Given the description of an element on the screen output the (x, y) to click on. 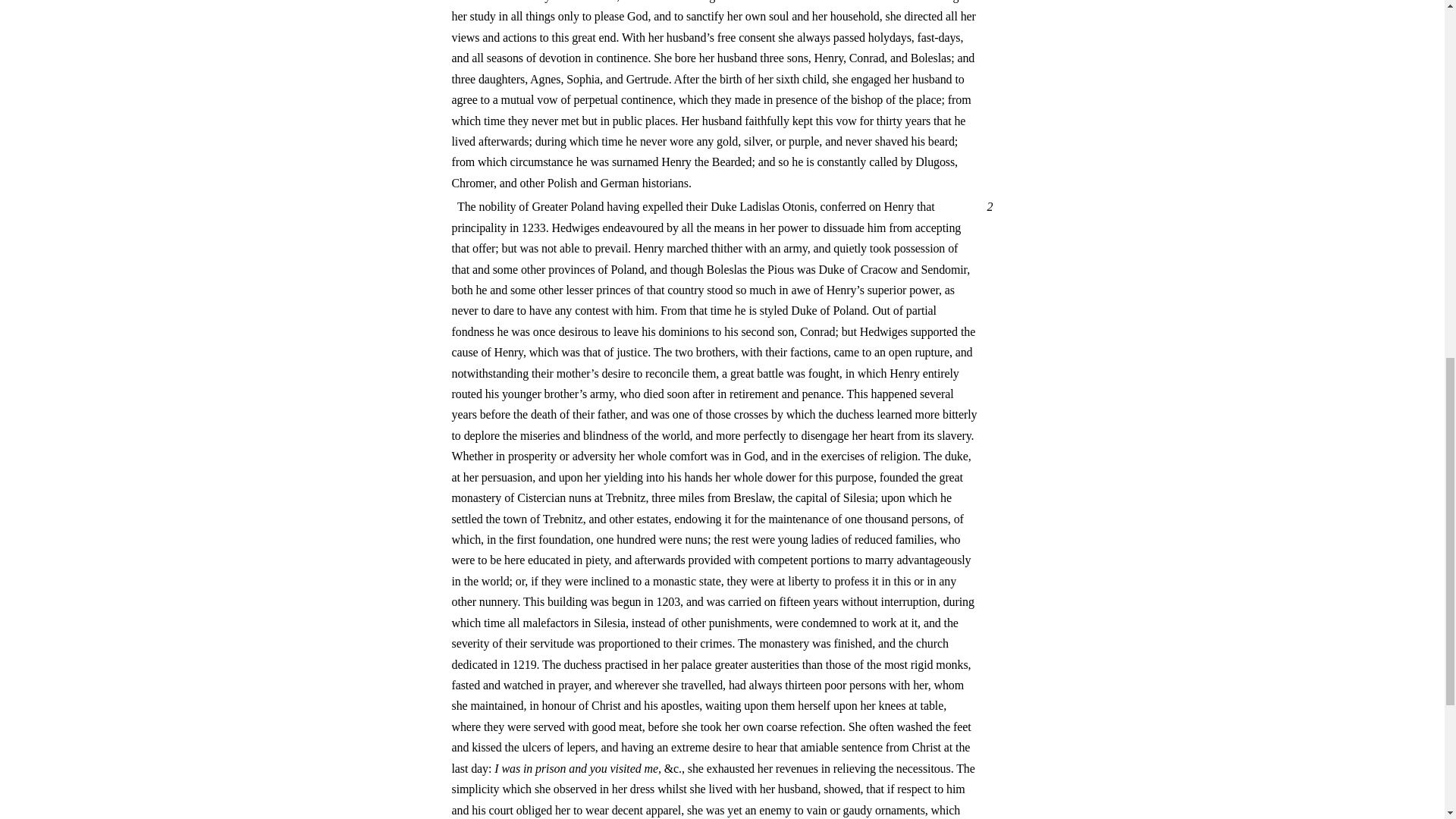
  2 (986, 205)
